Given the description of an element on the screen output the (x, y) to click on. 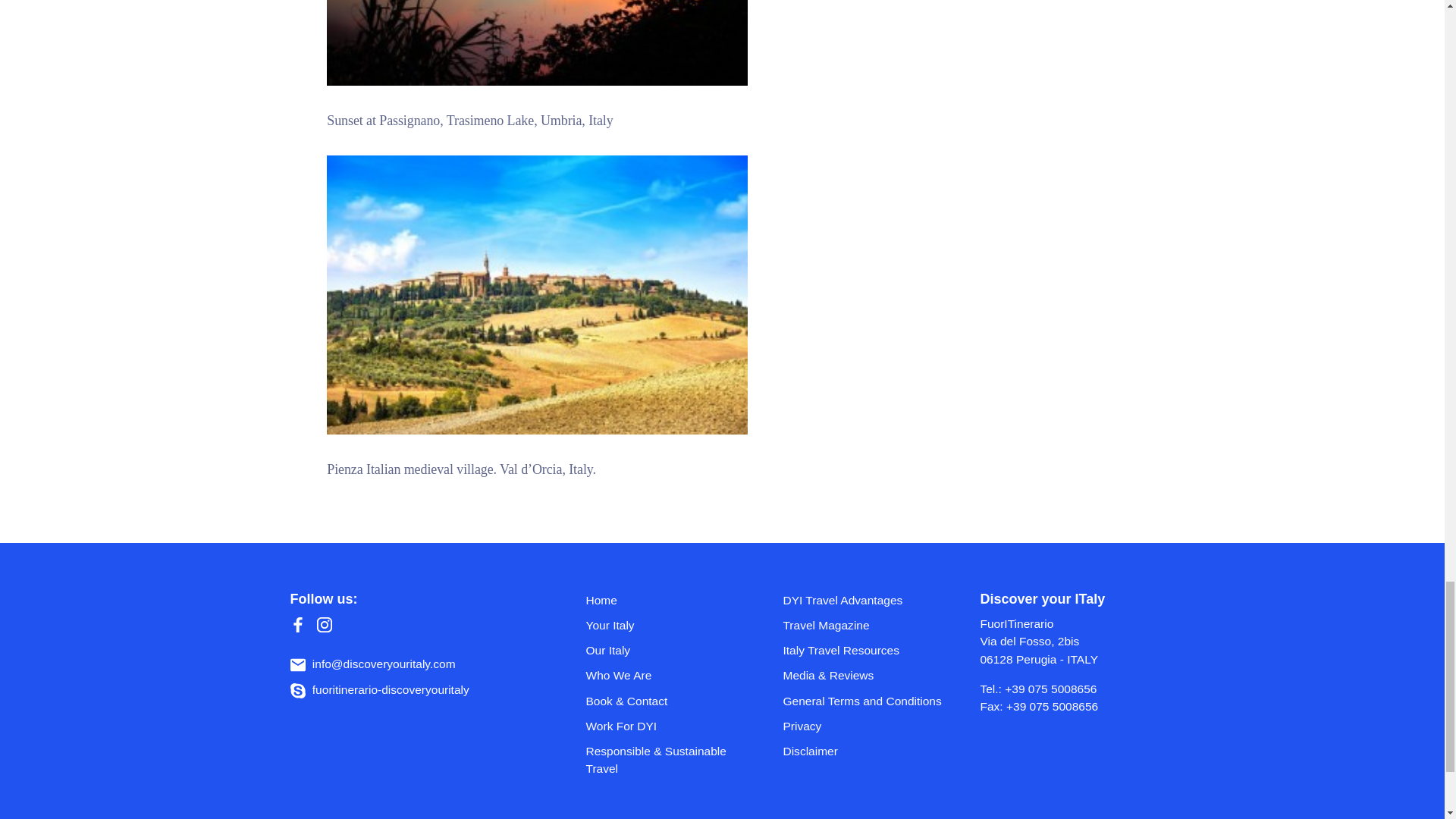
General Terms and Conditions (861, 700)
fuoritinerario-discoveryouritaly (378, 689)
Your Italy (609, 625)
Our Italy (607, 649)
Disclaimer (810, 750)
Travel Magazine (826, 625)
Work For DYI (620, 725)
Home (600, 599)
Who We Are (617, 675)
Privacy (802, 725)
